Given the description of an element on the screen output the (x, y) to click on. 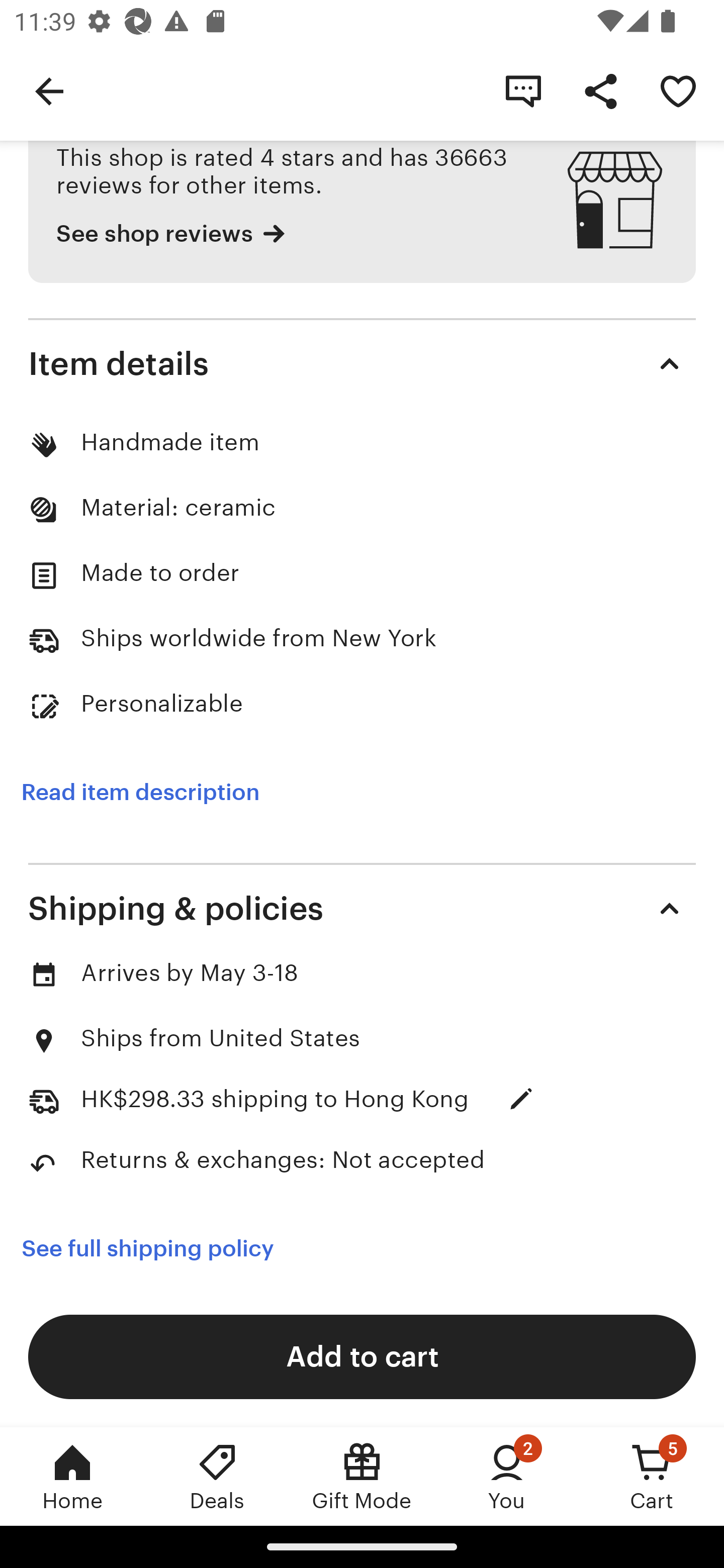
Navigate up (49, 90)
Contact shop (523, 90)
Share (600, 90)
Item details (362, 363)
Read item description (140, 792)
Shipping & policies (362, 908)
Update (521, 1098)
See full shipping policy (161, 1248)
Add to cart (361, 1355)
Deals (216, 1475)
Gift Mode (361, 1475)
You, 2 new notifications You (506, 1475)
Cart, 5 new notifications Cart (651, 1475)
